Given the description of an element on the screen output the (x, y) to click on. 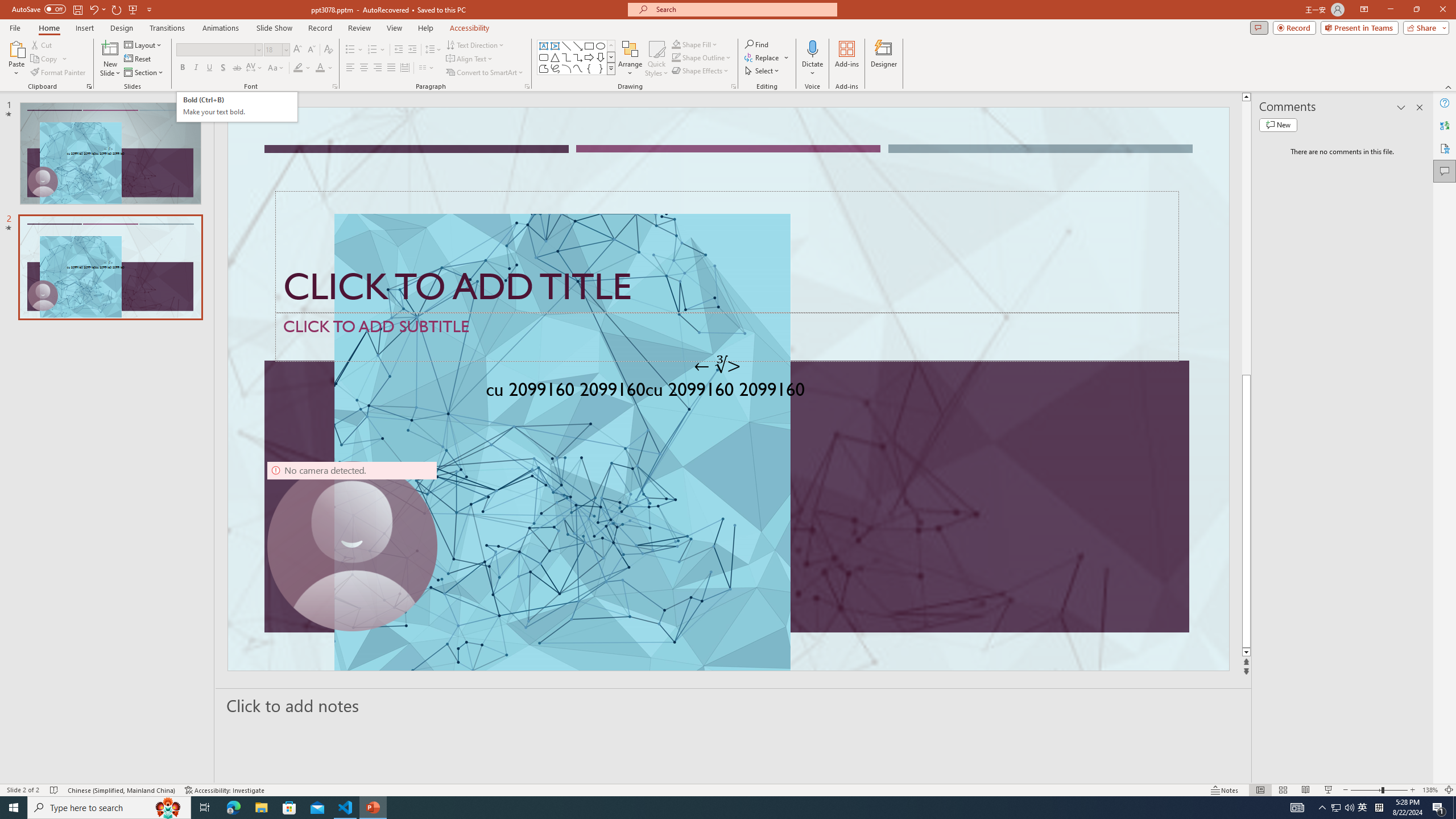
Decrease Indent (398, 49)
Arrow: Down (600, 57)
Reading View (1305, 790)
Normal (1260, 790)
Freeform: Shape (543, 68)
Design (122, 28)
Paste (16, 58)
TextBox 61 (726, 391)
File Tab (15, 27)
Underline (209, 67)
Zoom Out (1366, 790)
Reset (138, 58)
More Options (812, 68)
Font (215, 49)
